Given the description of an element on the screen output the (x, y) to click on. 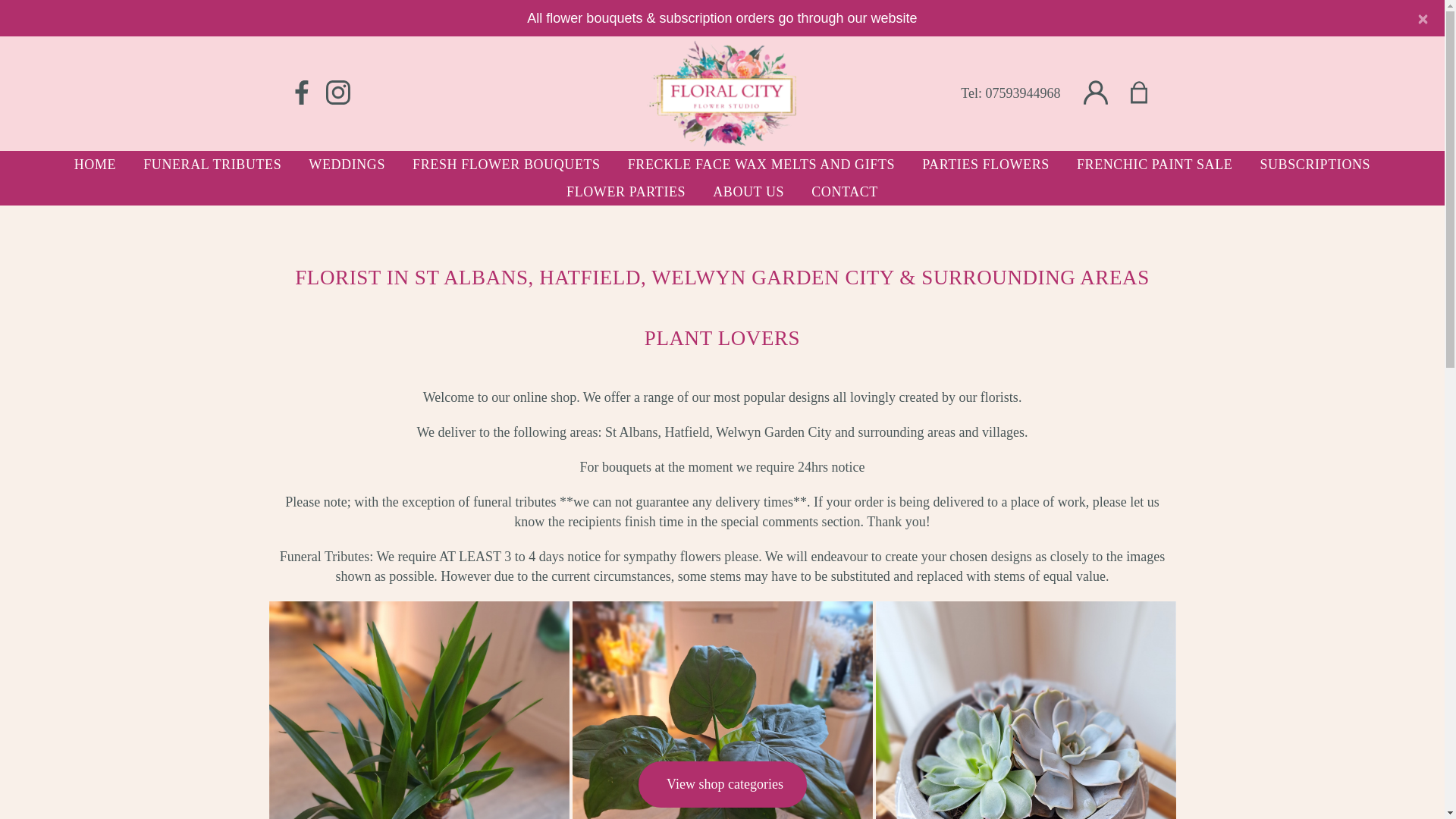
FRENCHIC PAINT SALE (1154, 164)
SUBSCRIPTIONS (1315, 164)
ABOUT US (747, 191)
Cart (1104, 93)
WEDDINGS (346, 164)
Facebook (301, 93)
Instagram (337, 93)
Cart (1148, 93)
HOME (95, 164)
07593944968 (1023, 92)
